Given the description of an element on the screen output the (x, y) to click on. 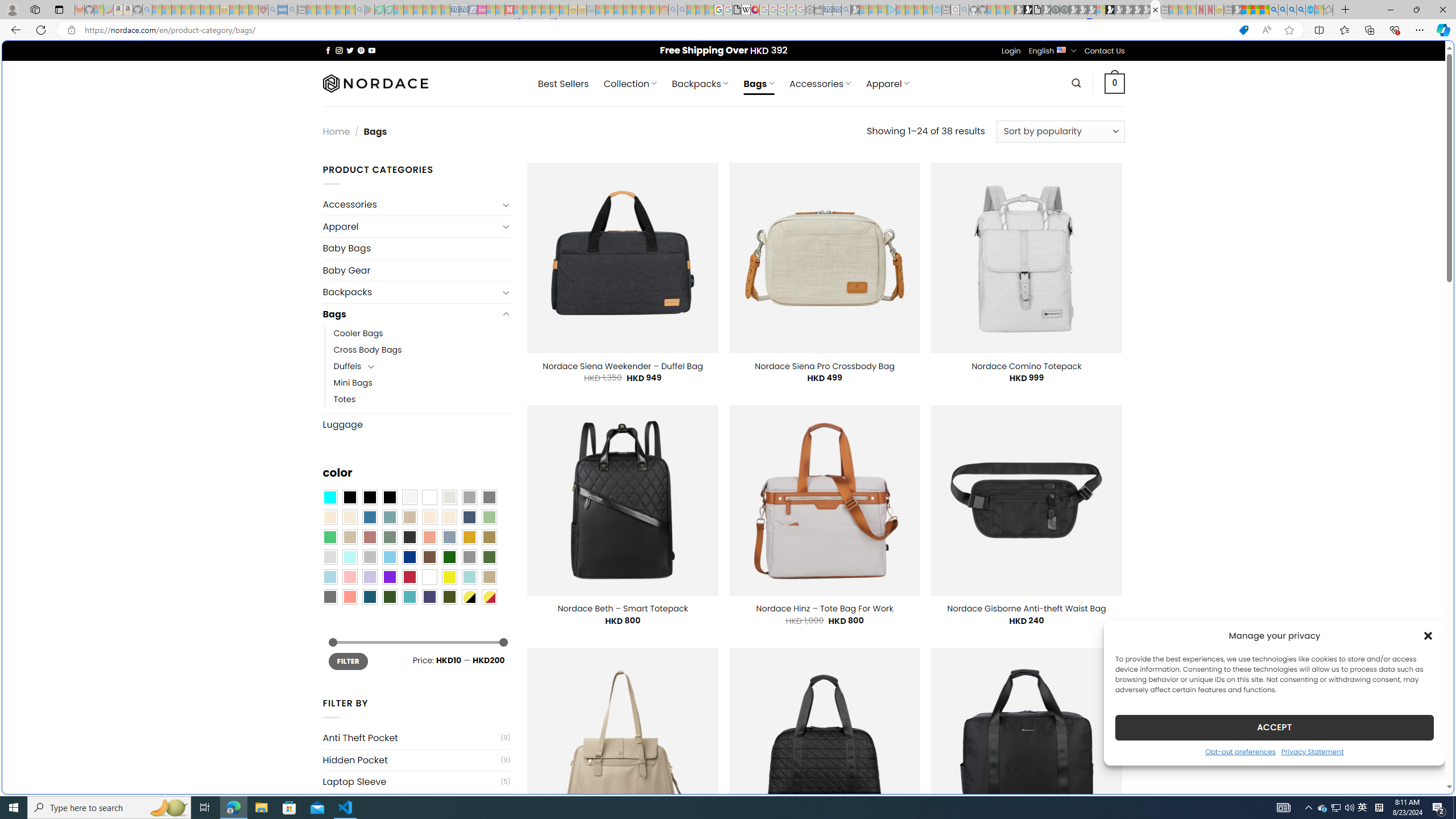
Baby Bags (416, 248)
Duffels (347, 366)
Nordace Siena Pro Crossbody Bag (823, 365)
Future Focus Report 2024 - Sleeping (1064, 9)
USB Charging Port(5) (416, 803)
Light Taupe (349, 536)
Green (488, 557)
Anti Theft Pocket(9) (416, 738)
